Given the description of an element on the screen output the (x, y) to click on. 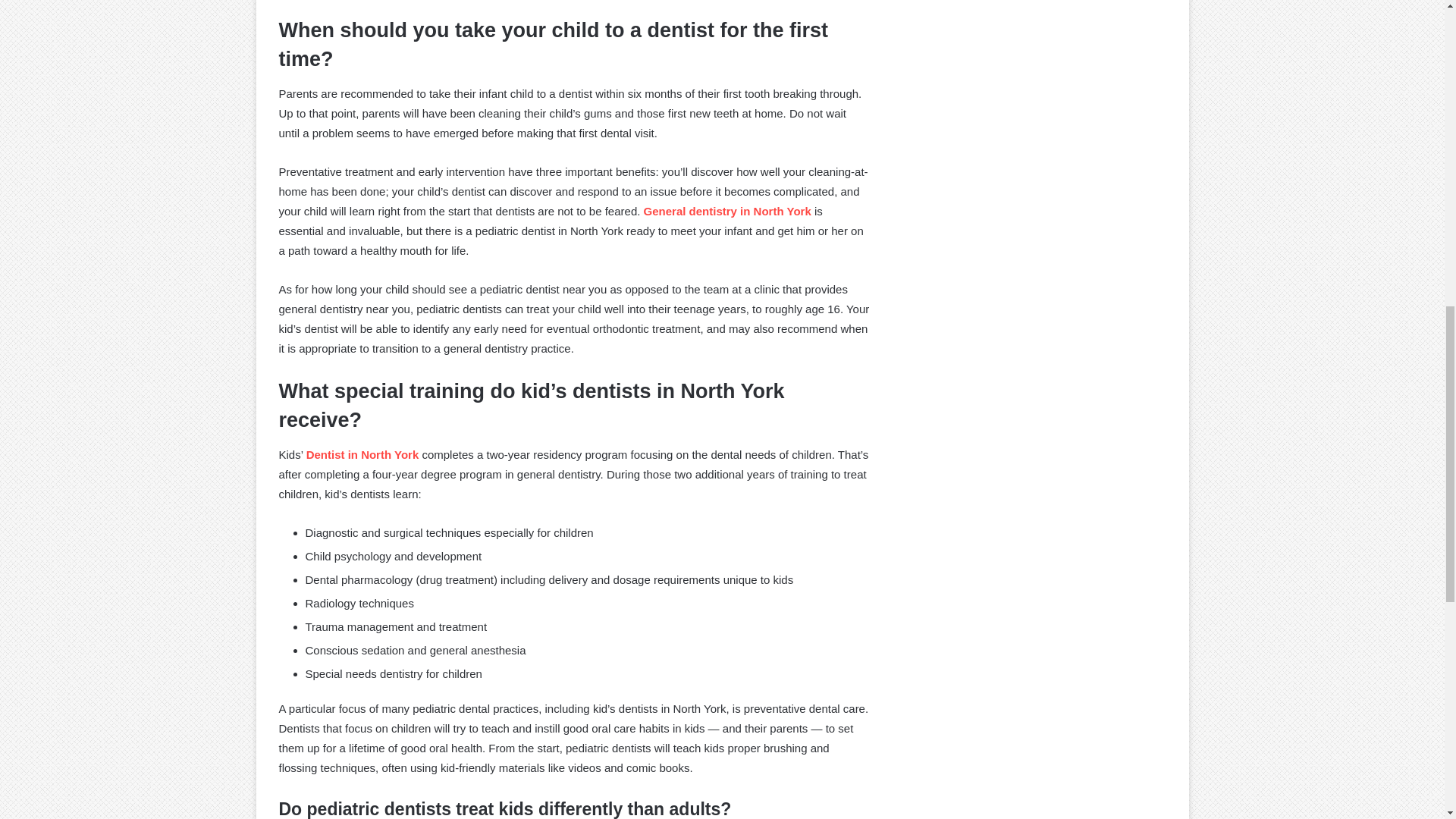
General dentistry in North York (726, 210)
Dentist in North York (362, 454)
Back to top button (1419, 62)
